Given the description of an element on the screen output the (x, y) to click on. 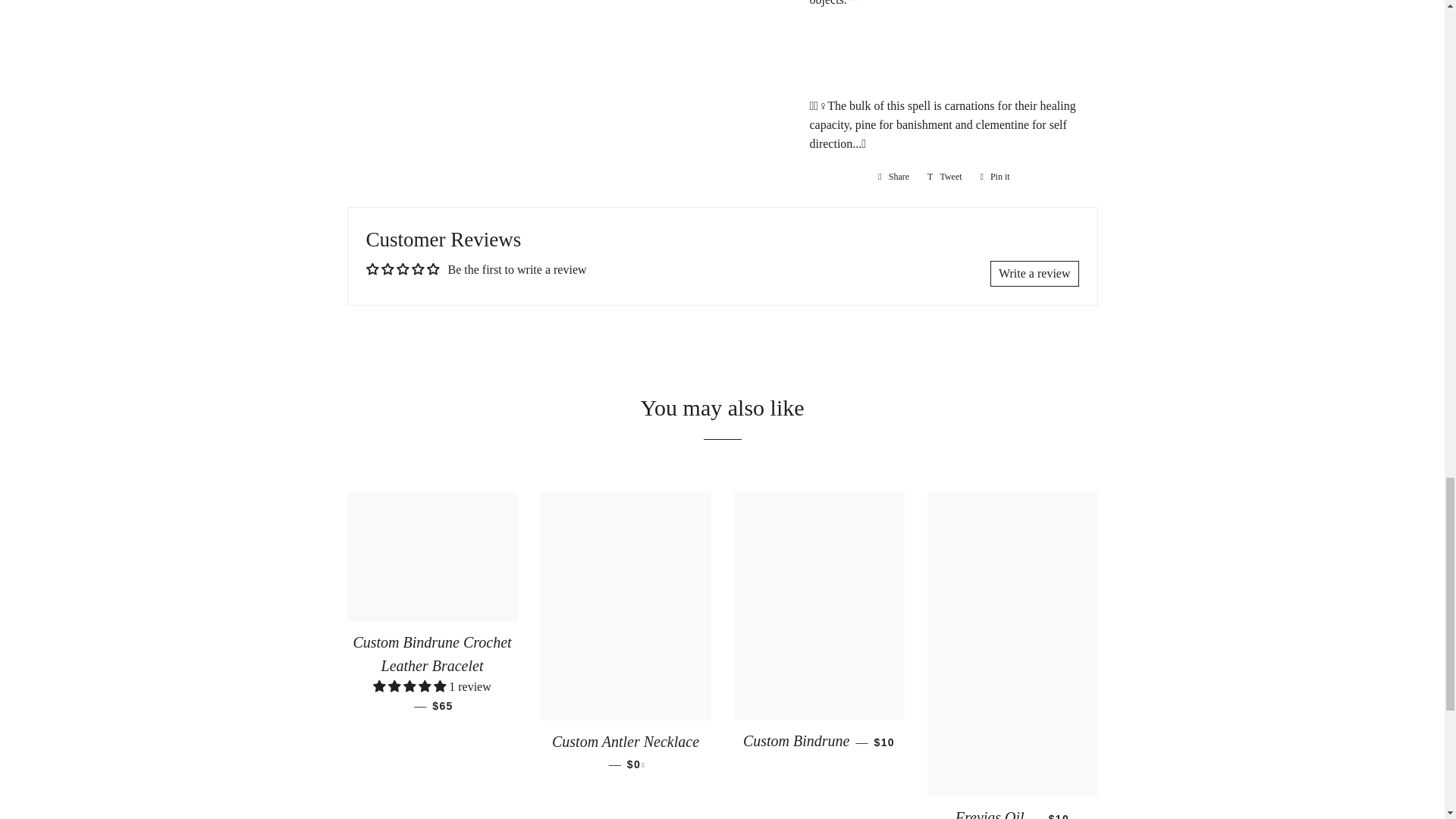
Pin on Pinterest (994, 176)
Tweet on Twitter (994, 176)
Share on Facebook (944, 176)
Write a review (944, 176)
